Given the description of an element on the screen output the (x, y) to click on. 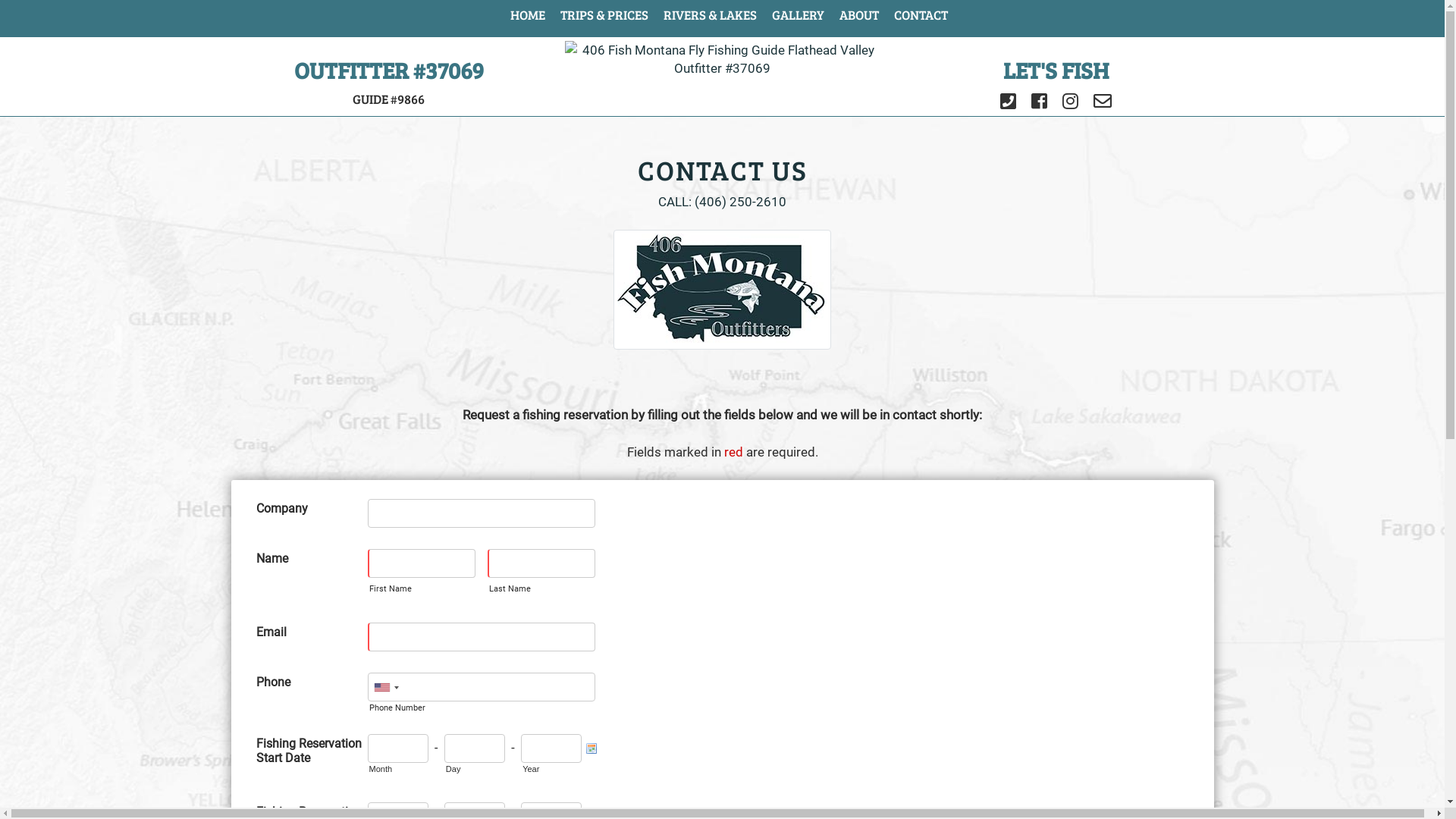
CALL: (406) 250-2610 Element type: text (722, 201)
United States: +1 Element type: hover (385, 687)
